Given the description of an element on the screen output the (x, y) to click on. 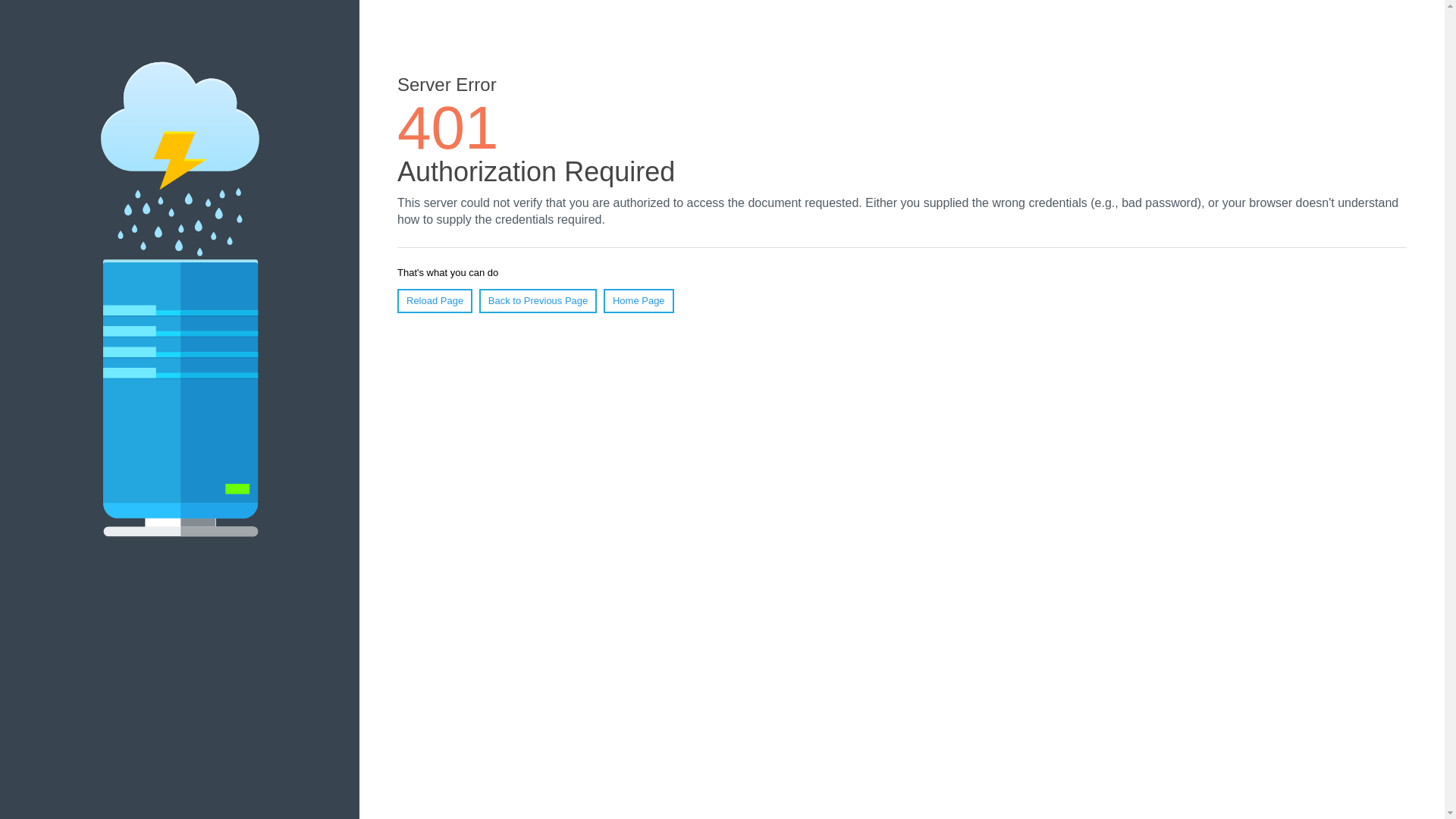
Back to Previous Page Element type: text (538, 300)
Reload Page Element type: text (434, 300)
Home Page Element type: text (638, 300)
